Given the description of an element on the screen output the (x, y) to click on. 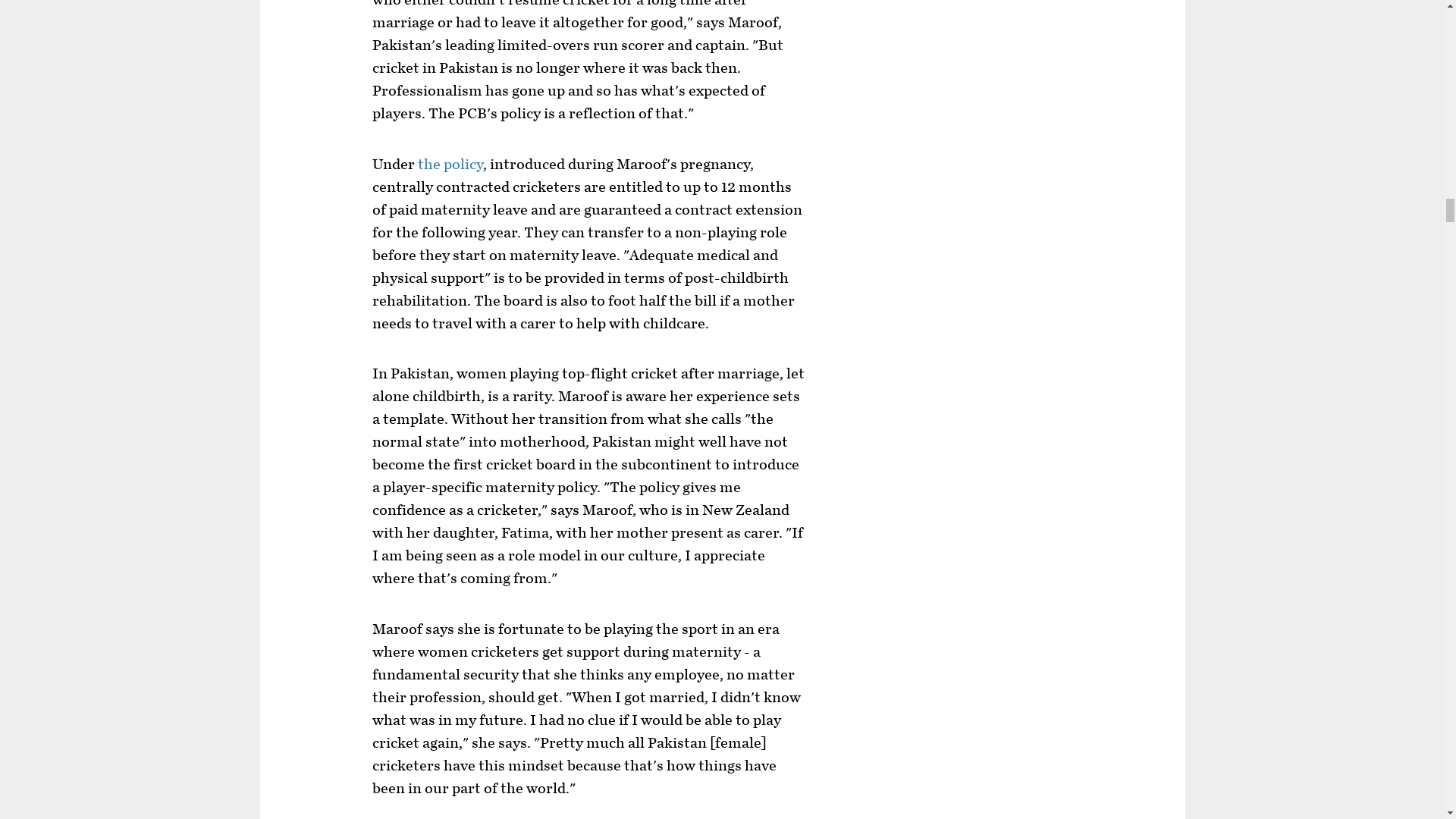
the policy (450, 164)
